Given the description of an element on the screen output the (x, y) to click on. 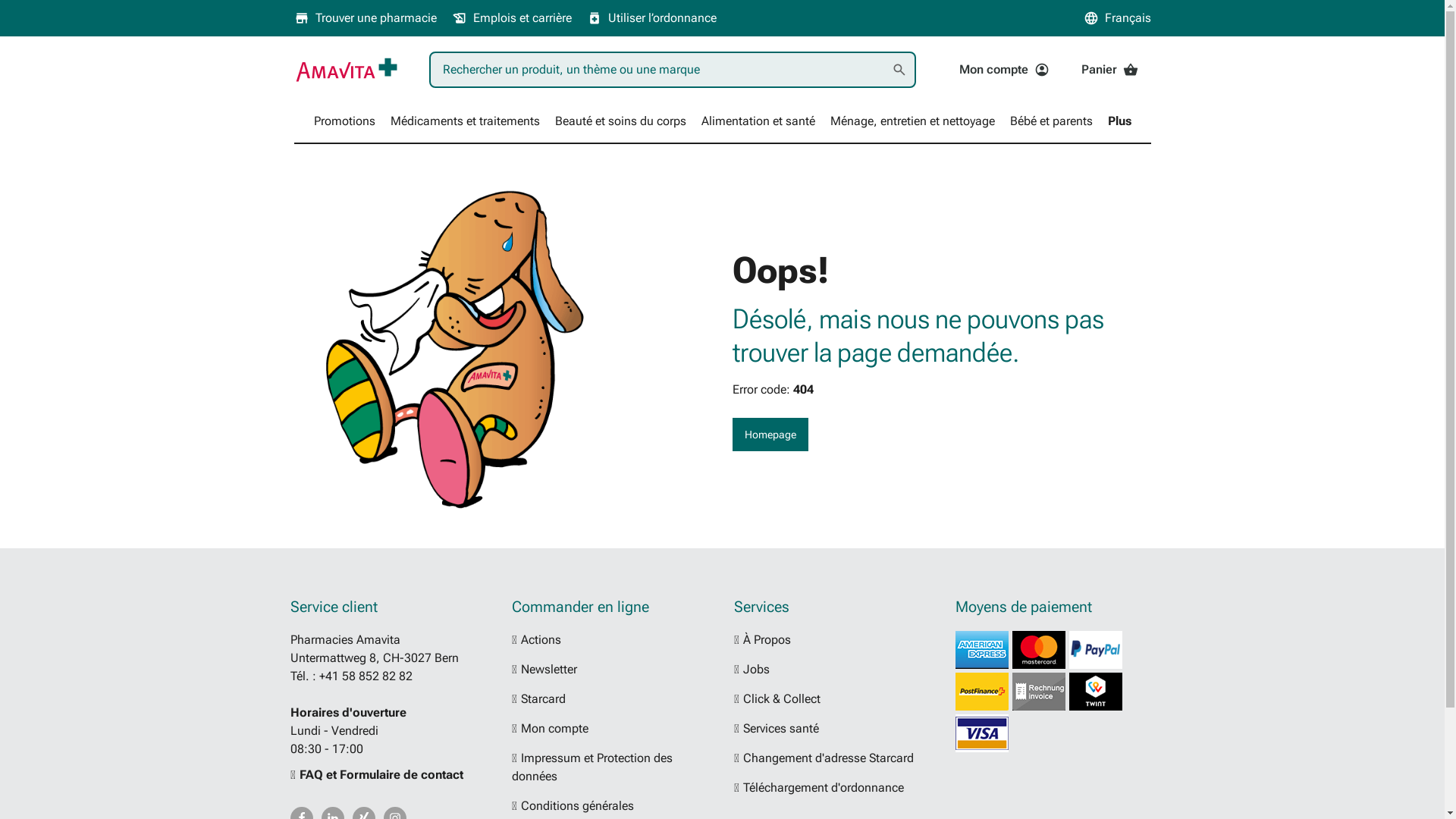
Panier Element type: text (1108, 69)
Starcard Element type: text (542, 698)
Click & Collect Element type: text (781, 698)
Mon compte Element type: text (554, 728)
Changement d'adresse Starcard Element type: text (828, 757)
Rechercher Element type: text (899, 69)
Jobs Element type: text (756, 669)
Homepage Element type: text (770, 434)
Trouver une pharmacie Element type: text (365, 18)
Mon compte Element type: text (1004, 69)
Promotions Element type: text (344, 121)
Newsletter Element type: text (548, 669)
Amavita Logo Element type: hover (346, 69)
FAQ et Formulaire de contact Element type: text (375, 774)
Actions Element type: text (540, 639)
